Given the description of an element on the screen output the (x, y) to click on. 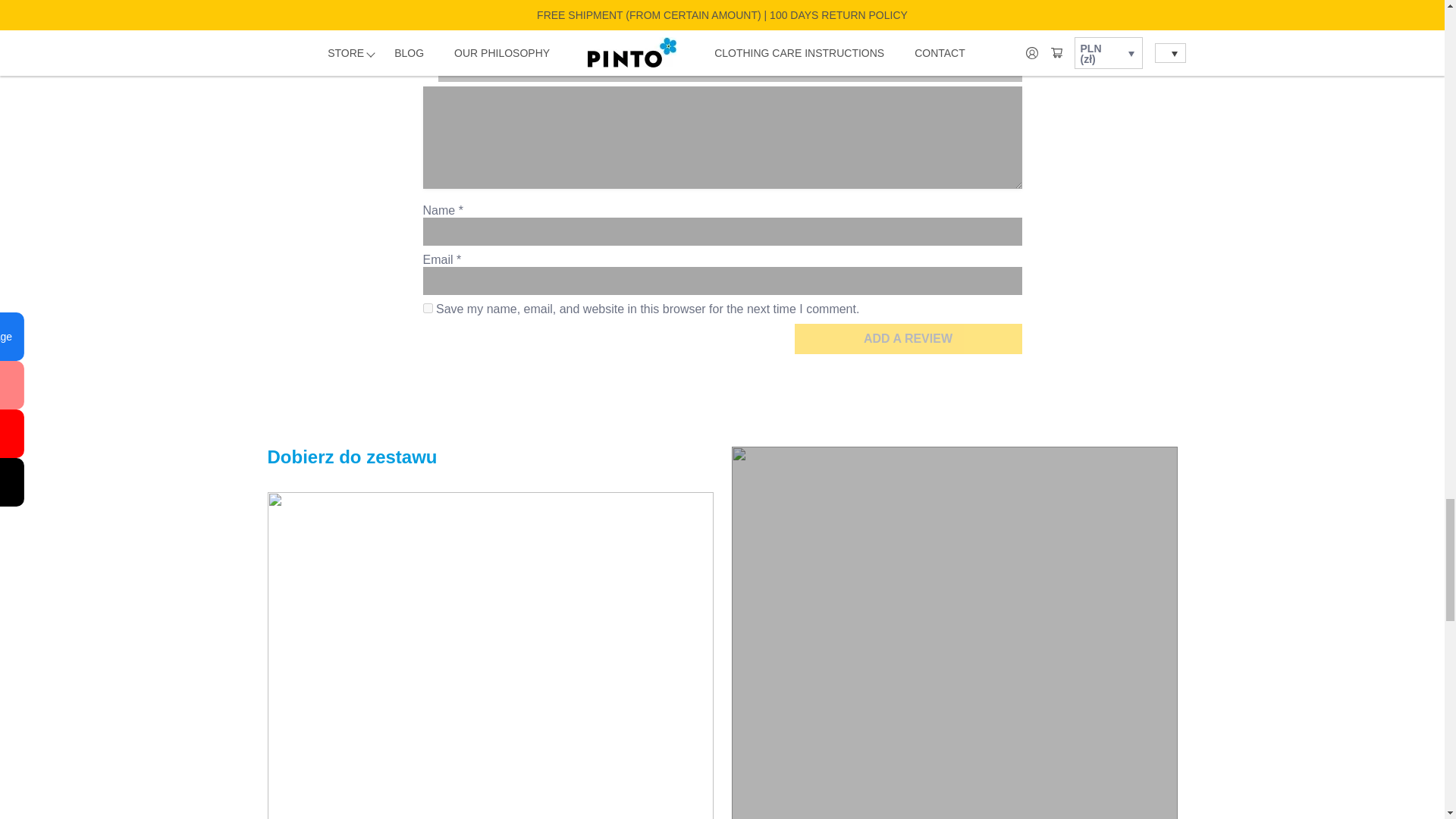
yes (427, 307)
add a review (908, 338)
